Given the description of an element on the screen output the (x, y) to click on. 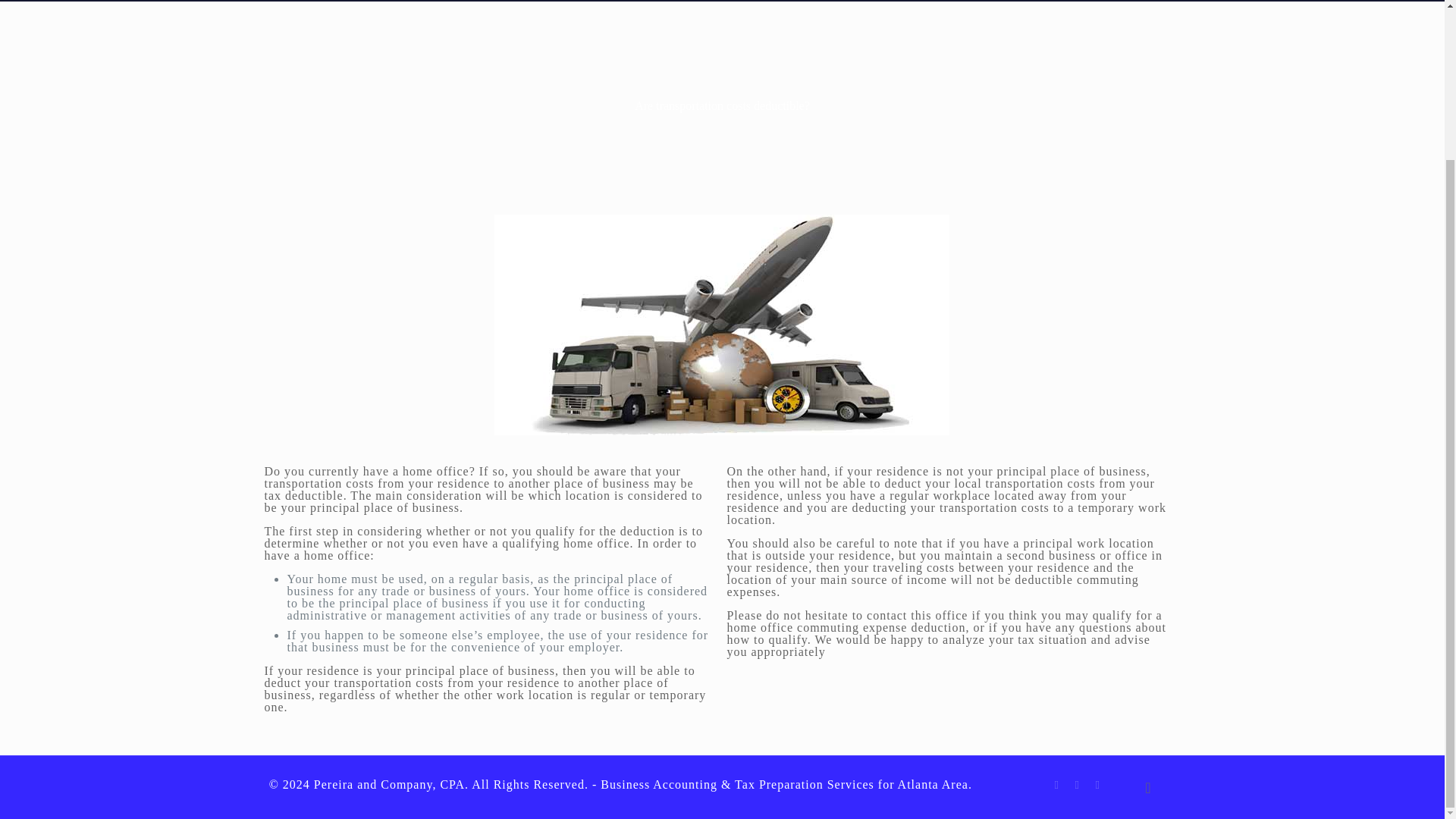
Facebook (1056, 784)
LinkedIn (1076, 784)
Yelp (1097, 784)
